Given the description of an element on the screen output the (x, y) to click on. 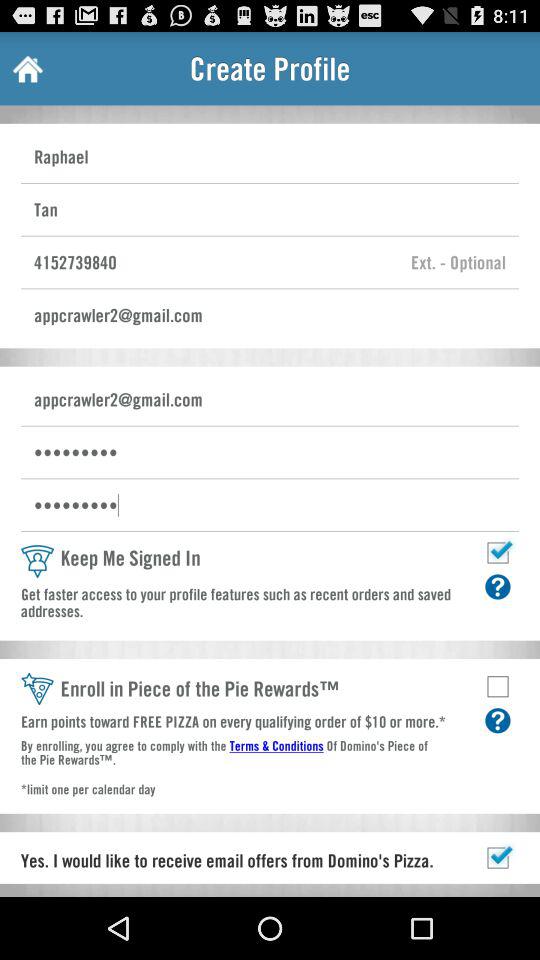
check box to select (498, 857)
